Given the description of an element on the screen output the (x, y) to click on. 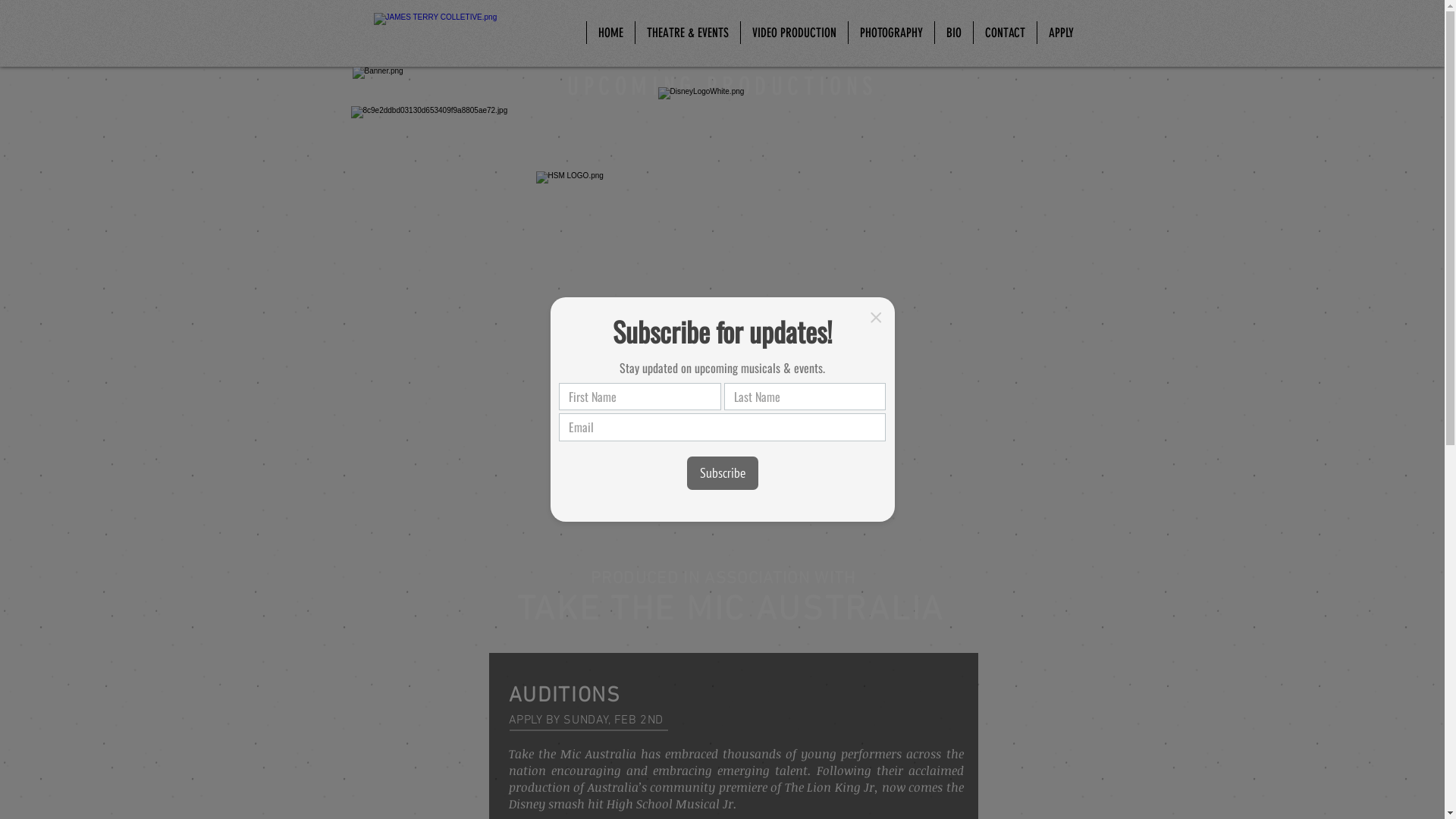
PHOTOGRAPHY Element type: text (890, 32)
TAKE THE MIC AUSTRALIA Element type: text (730, 610)
VIDEO PRODUCTION Element type: text (793, 32)
HOME Element type: text (609, 32)
PRODUCED IN ASSOCIATION WITH Element type: text (722, 578)
CONTACT Element type: text (1003, 32)
BIO Element type: text (953, 32)
THEATRE & EVENTS Element type: text (686, 32)
AUDITIONS Element type: text (564, 696)
APPLY Element type: text (1059, 32)
